Given the description of an element on the screen output the (x, y) to click on. 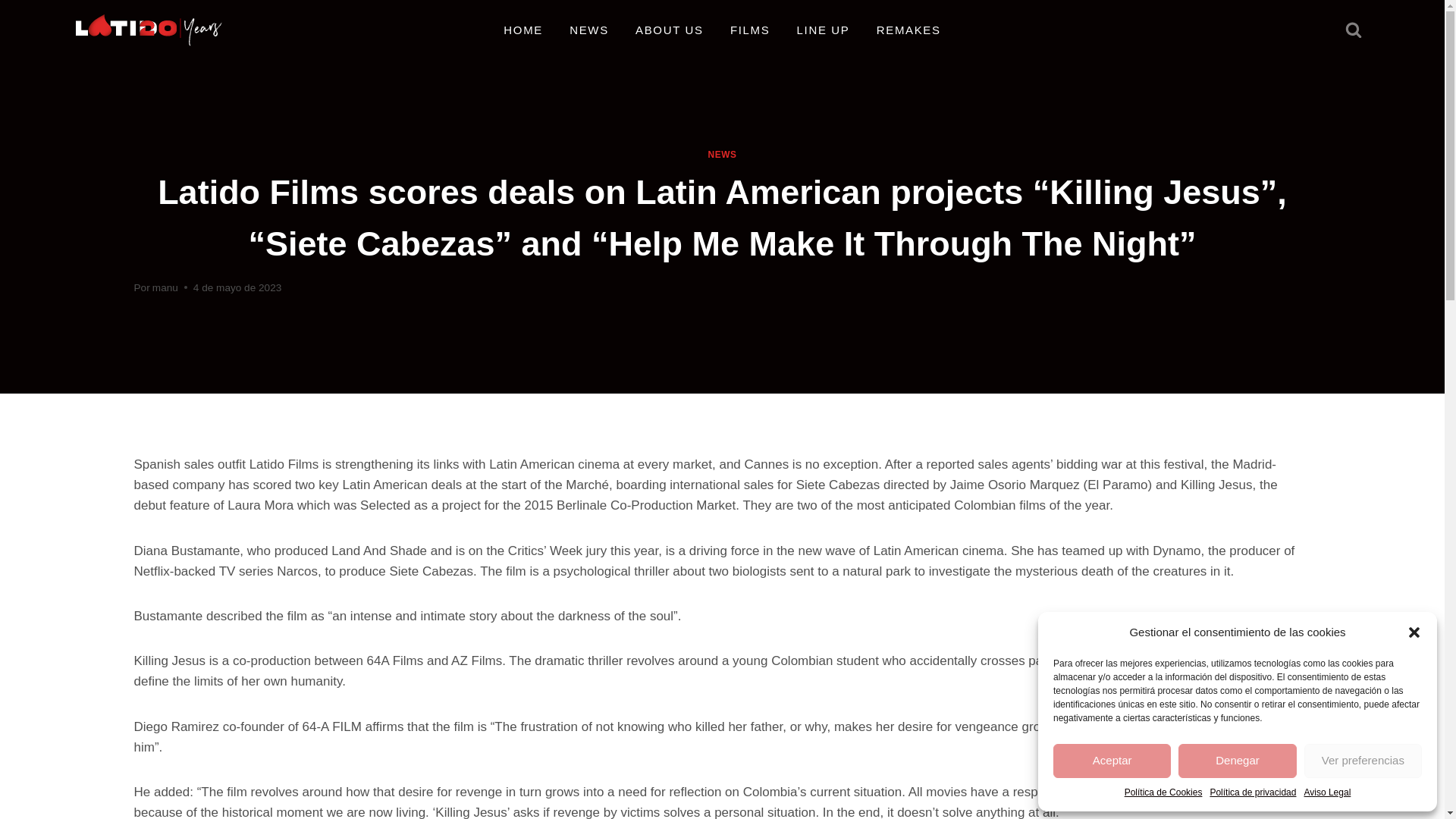
LINE UP (823, 29)
manu (164, 287)
FILMS (749, 29)
HOME (523, 29)
NEWS (589, 29)
REMAKES (908, 29)
Denegar (1236, 760)
Aviso Legal (1327, 792)
ABOUT US (668, 29)
Ver preferencias (1363, 760)
